Given the description of an element on the screen output the (x, y) to click on. 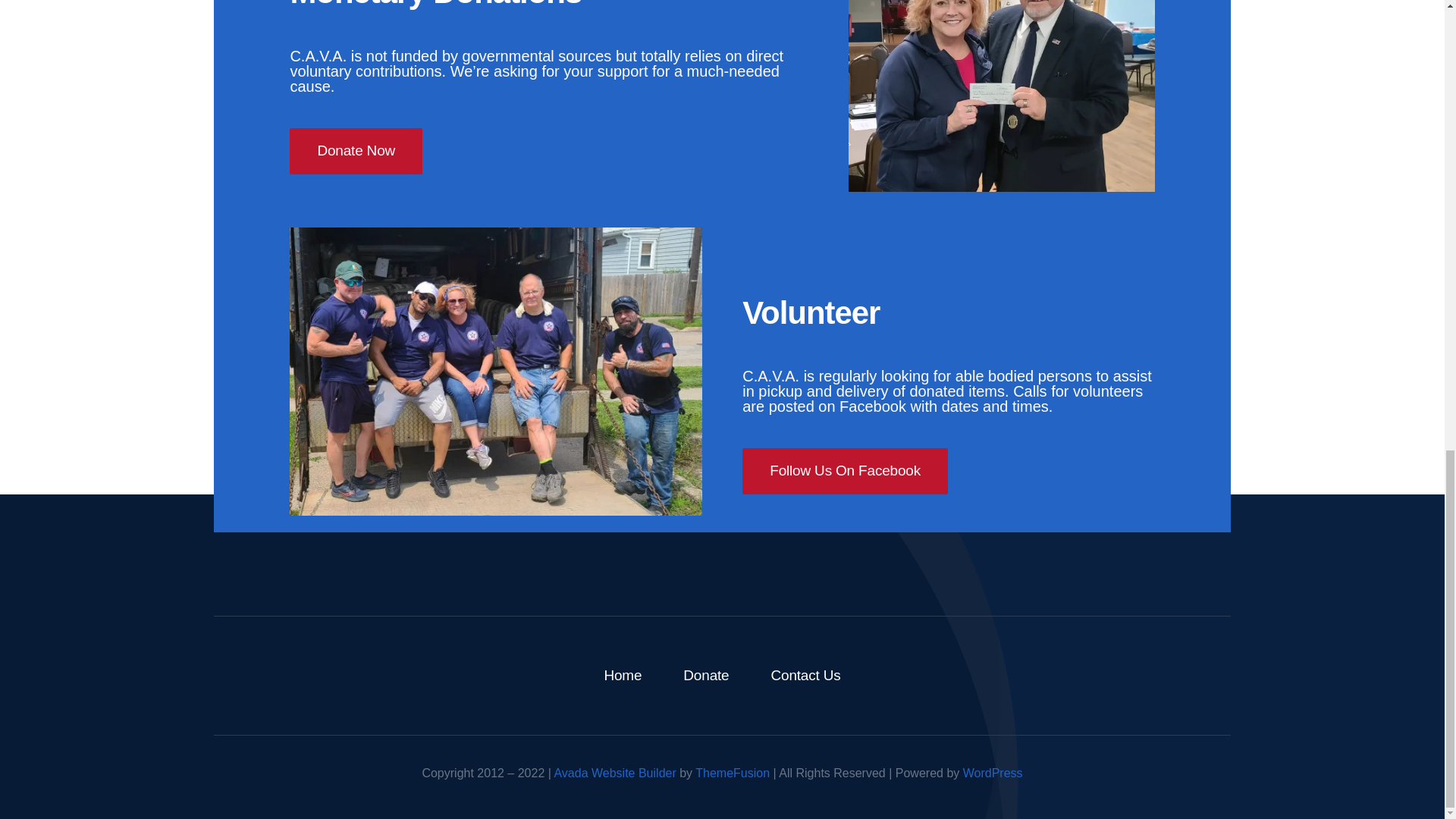
ThemeFusion (732, 772)
Contact Us (805, 675)
Check (1001, 95)
WordPress (992, 772)
Avada Website Builder (614, 772)
Moving Crew (495, 371)
Donate Now (355, 150)
Follow Us On Facebook (844, 470)
